Given the description of an element on the screen output the (x, y) to click on. 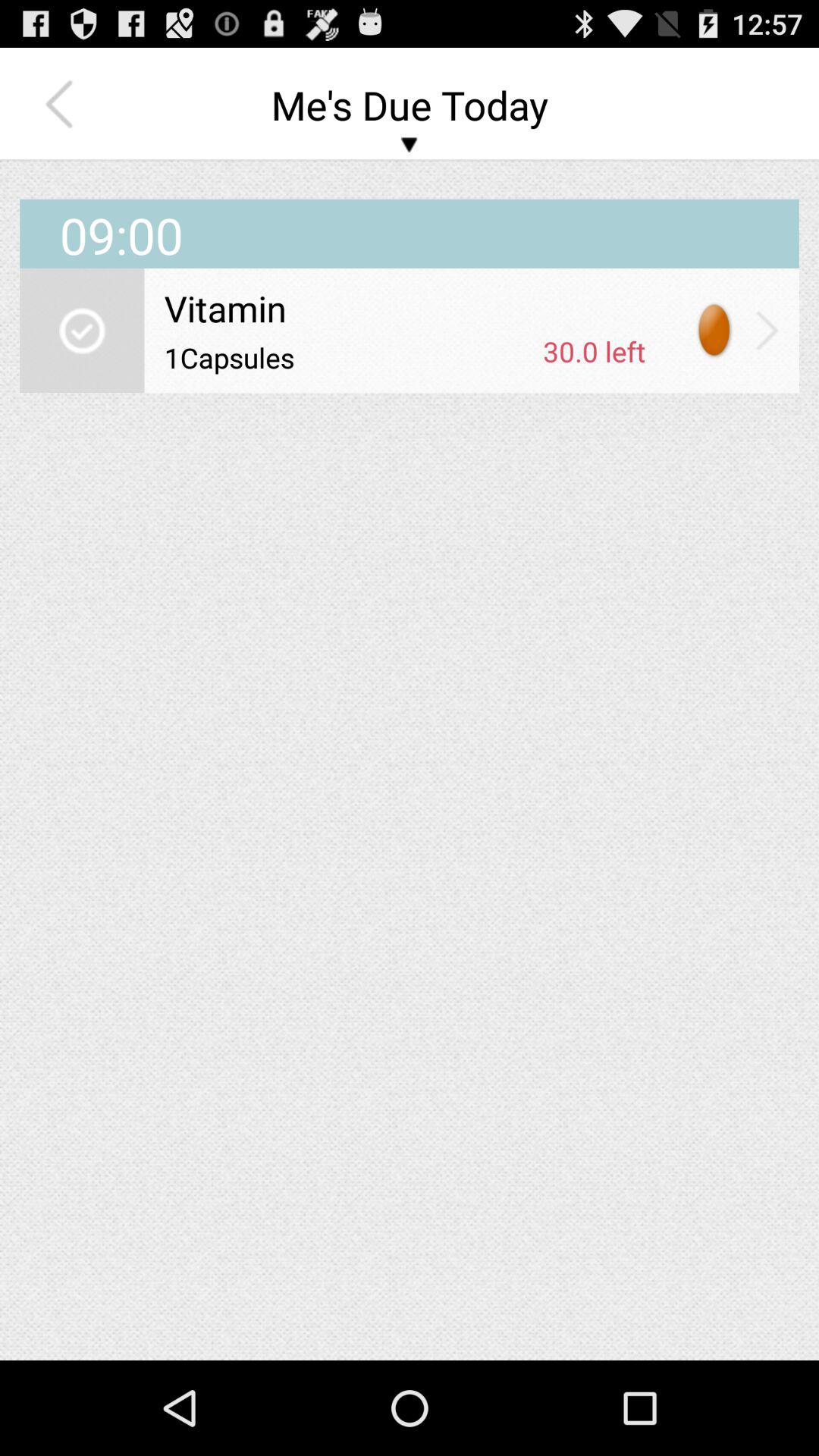
press 1capsules icon (348, 357)
